Given the description of an element on the screen output the (x, y) to click on. 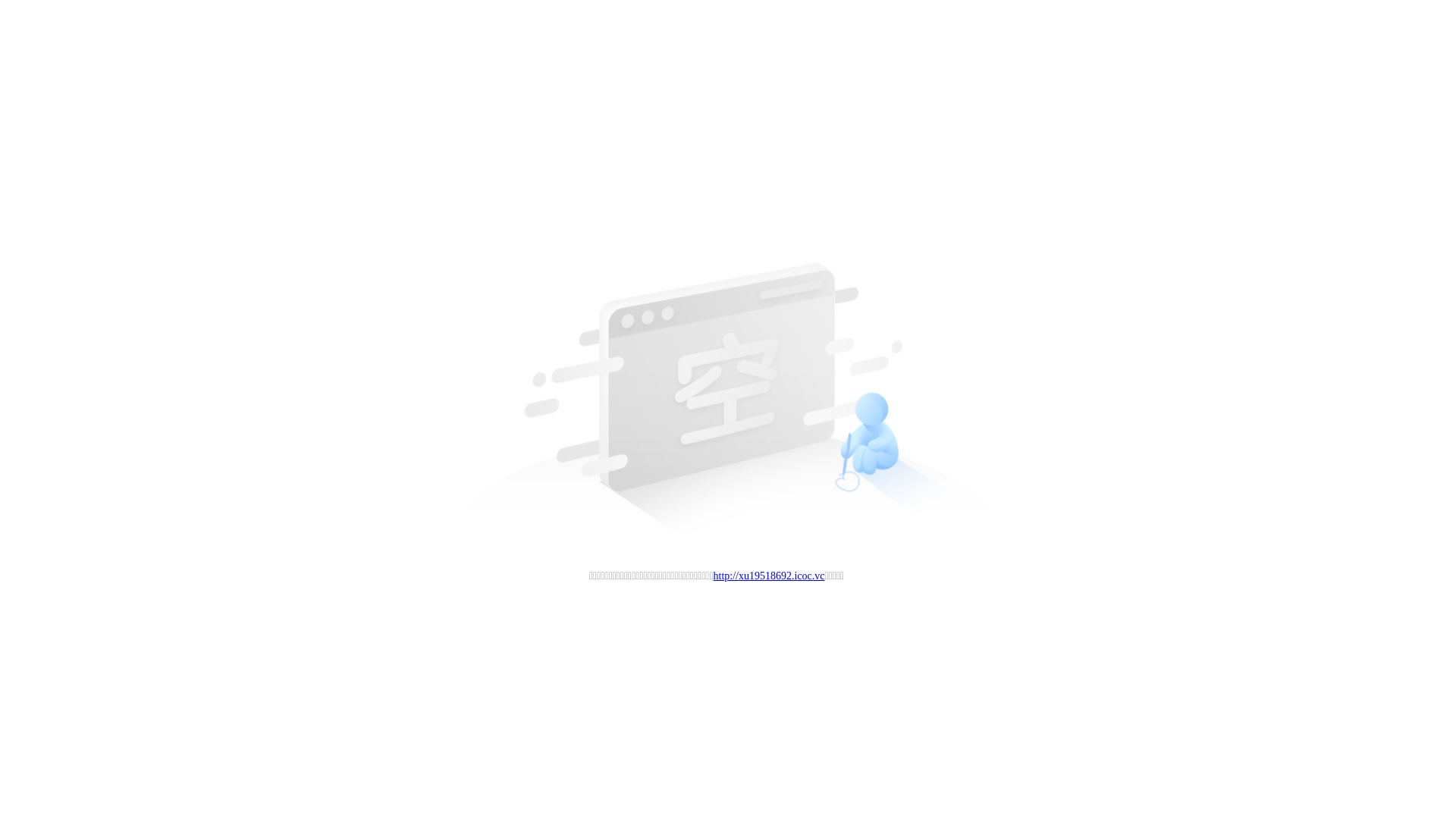
http://xu19518692.icoc.vc Element type: text (769, 575)
